Given the description of an element on the screen output the (x, y) to click on. 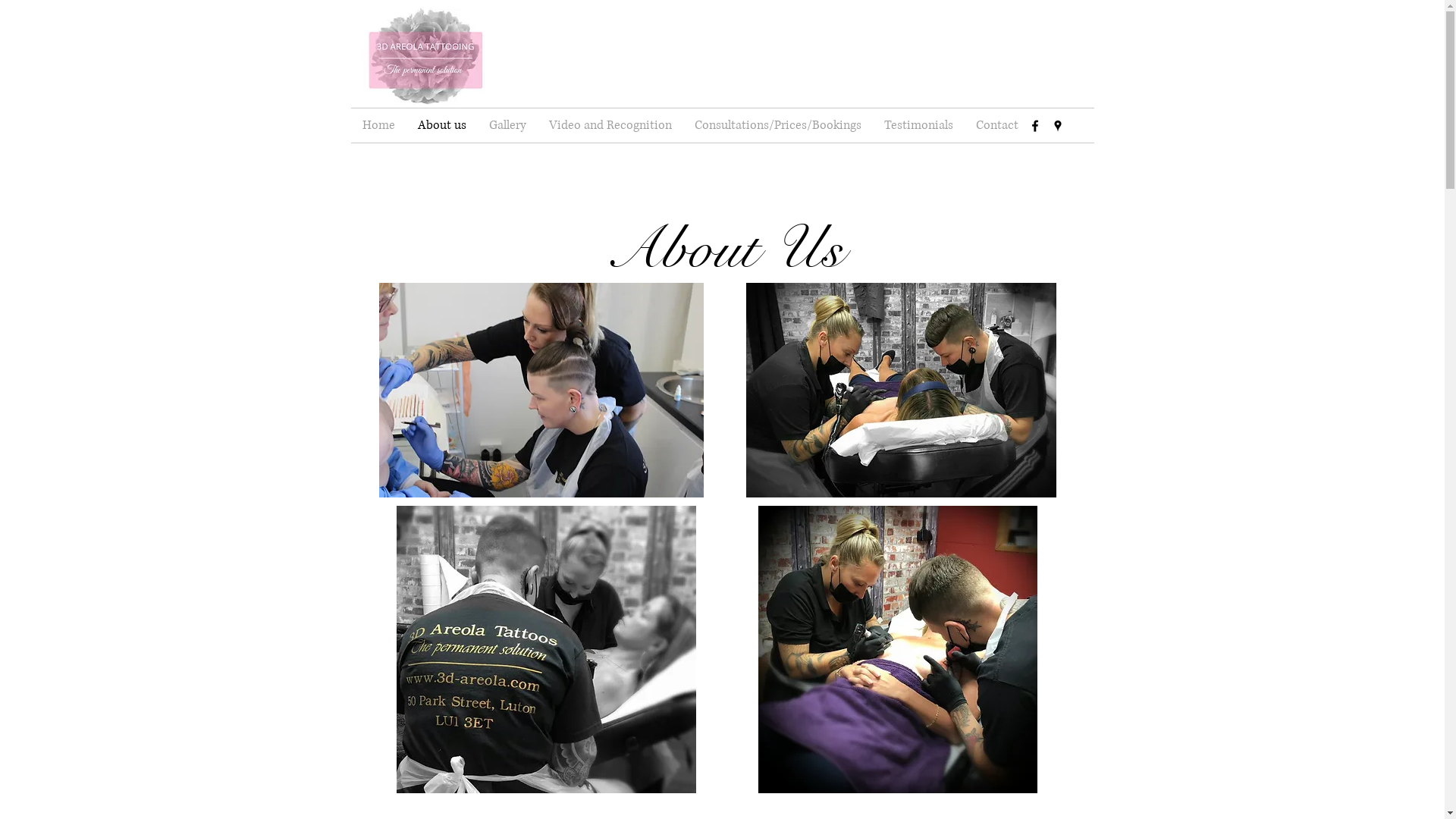
Home Element type: text (377, 125)
Contact Element type: text (996, 125)
Gallery Element type: text (507, 125)
Testimonials Element type: text (917, 125)
Video and Recognition Element type: text (609, 125)
About us Element type: text (441, 125)
Consultations/Prices/Bookings Element type: text (777, 125)
